Given the description of an element on the screen output the (x, y) to click on. 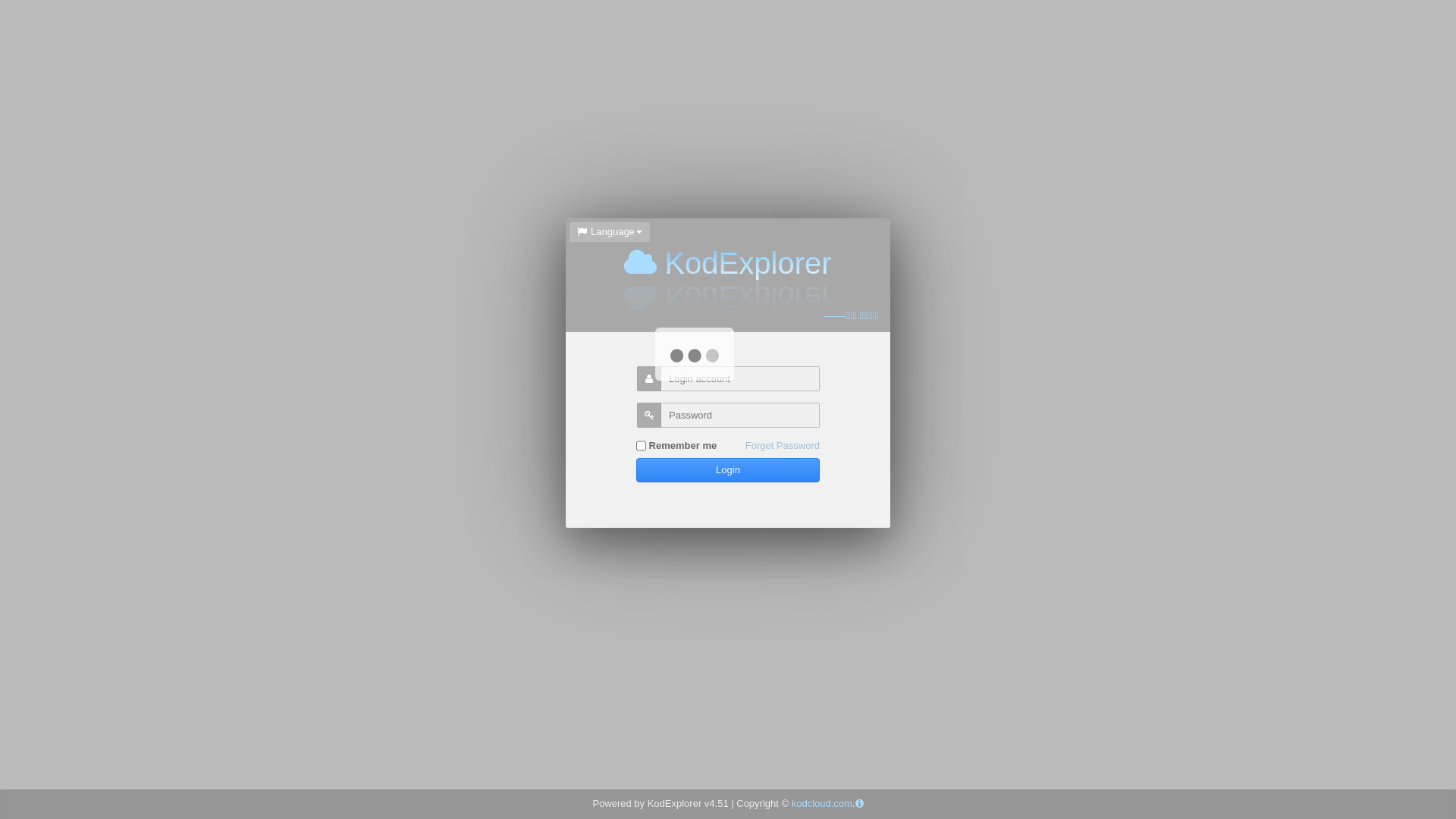
Login Element type: text (727, 470)
kodcloud.com Element type: text (821, 803)
Language Element type: text (609, 231)
Forget Password Element type: text (782, 446)
